Given the description of an element on the screen output the (x, y) to click on. 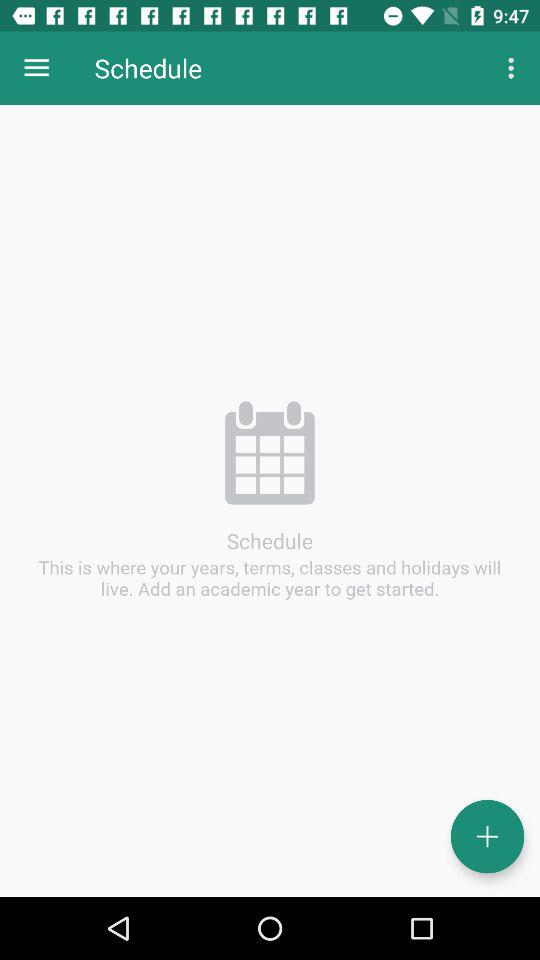
add to schedule (487, 836)
